Given the description of an element on the screen output the (x, y) to click on. 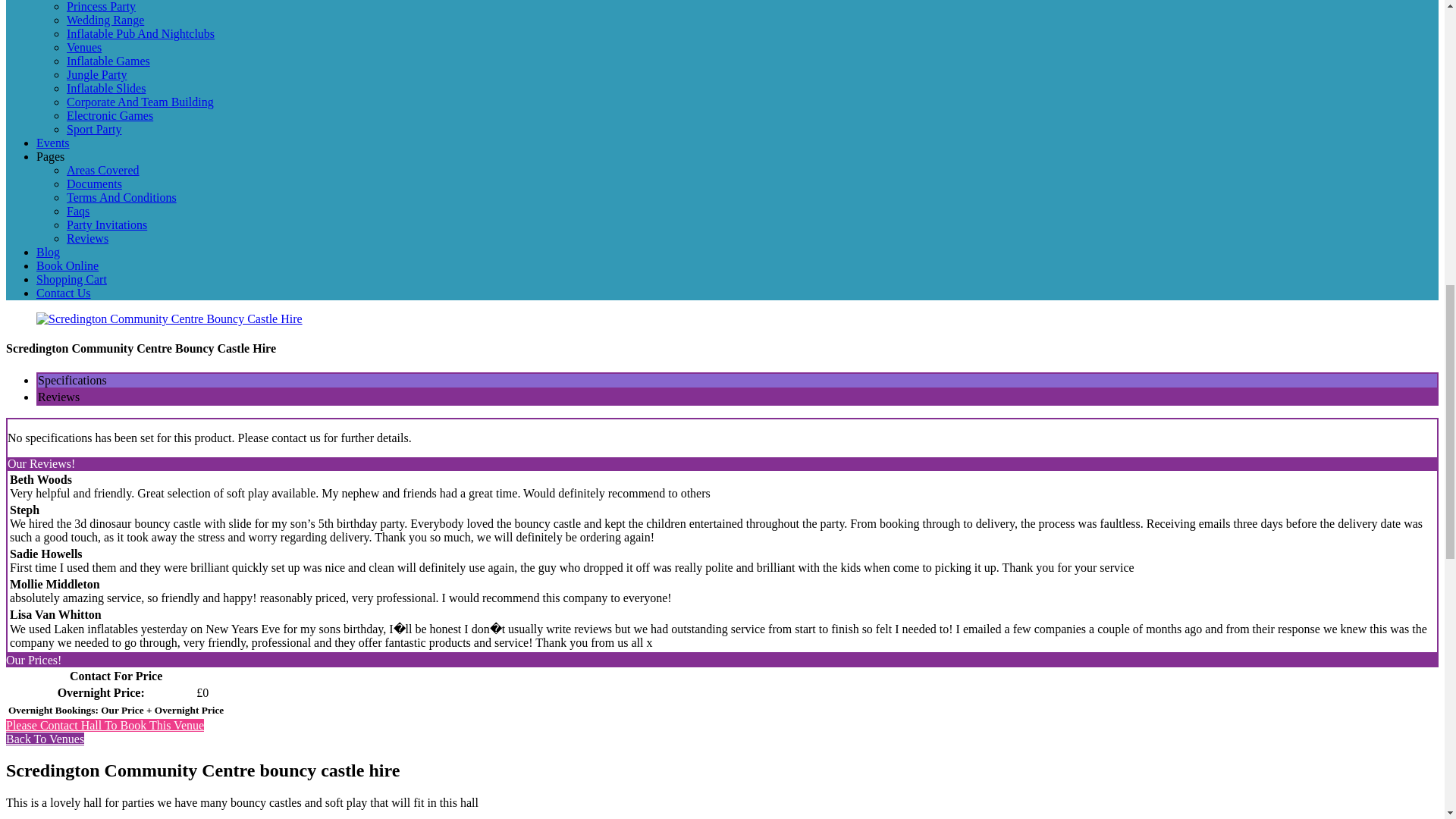
Scredington Community Centre Bouncy Castle Hire (169, 318)
Princess Party (100, 6)
Wedding Range (105, 19)
